Given the description of an element on the screen output the (x, y) to click on. 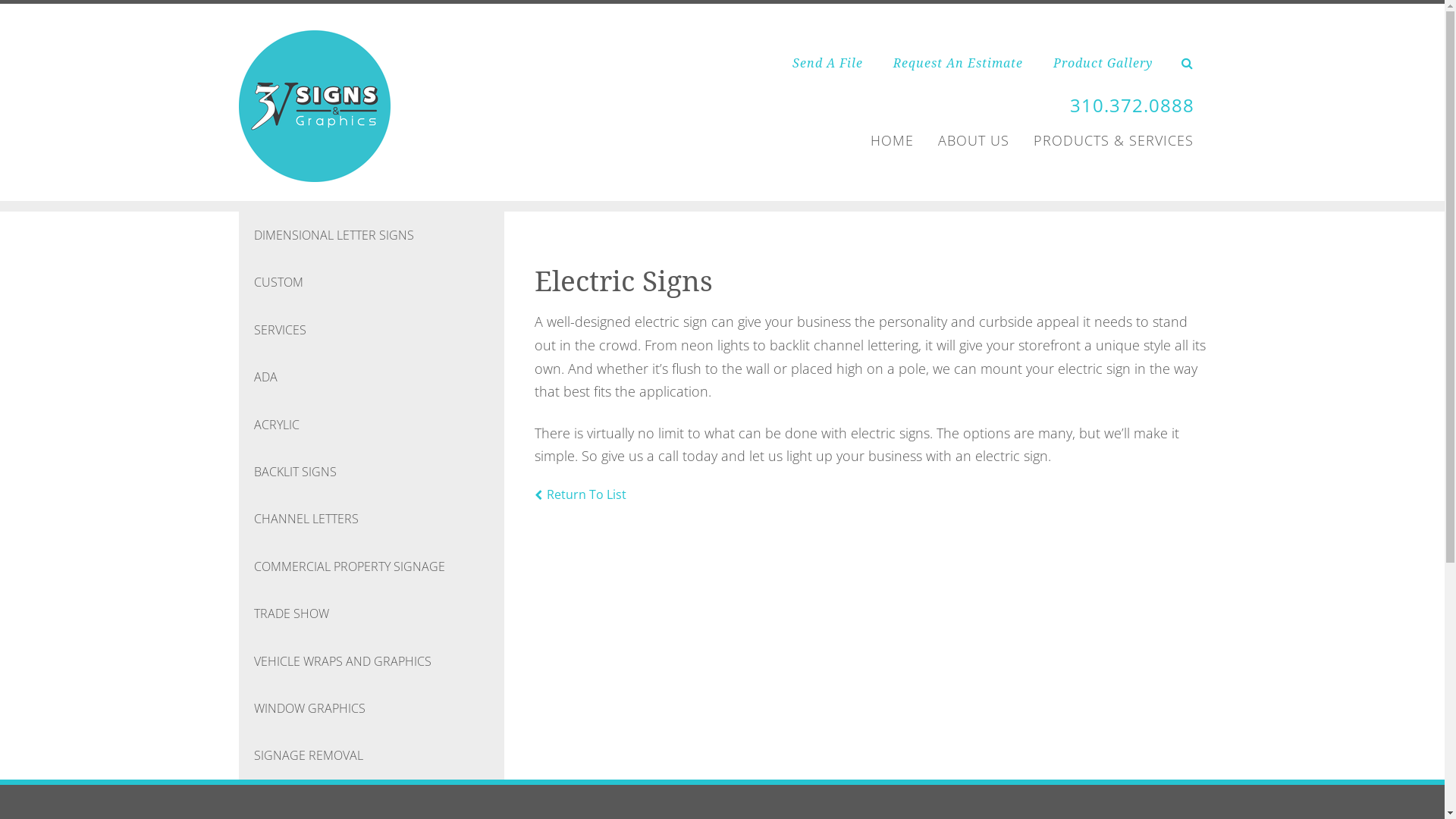
ACRYLIC Element type: text (371, 424)
SIGNAGE REMOVAL Element type: text (371, 754)
SERVICES Element type: text (371, 329)
ABOUT US Element type: text (973, 141)
Send A File Element type: text (827, 63)
310.372.0888 Element type: text (1132, 104)
VEHICLE WRAPS AND GRAPHICS Element type: text (371, 660)
TRADE SHOW Element type: text (371, 613)
CHANNEL LETTERS Element type: text (371, 518)
Return To List Element type: text (580, 494)
Request An Estimate Element type: text (957, 63)
WINDOW GRAPHICS Element type: text (371, 707)
BACKLIT SIGNS Element type: text (371, 471)
ADA Element type: text (371, 376)
HOME Element type: text (891, 141)
CUSTOM Element type: text (371, 281)
logo Element type: hover (314, 106)
PRODUCTS & SERVICES Element type: text (1113, 141)
DIMENSIONAL LETTER SIGNS Element type: text (371, 234)
COMMERCIAL PROPERTY SIGNAGE Element type: text (371, 565)
Product Gallery Element type: text (1102, 63)
